Given the description of an element on the screen output the (x, y) to click on. 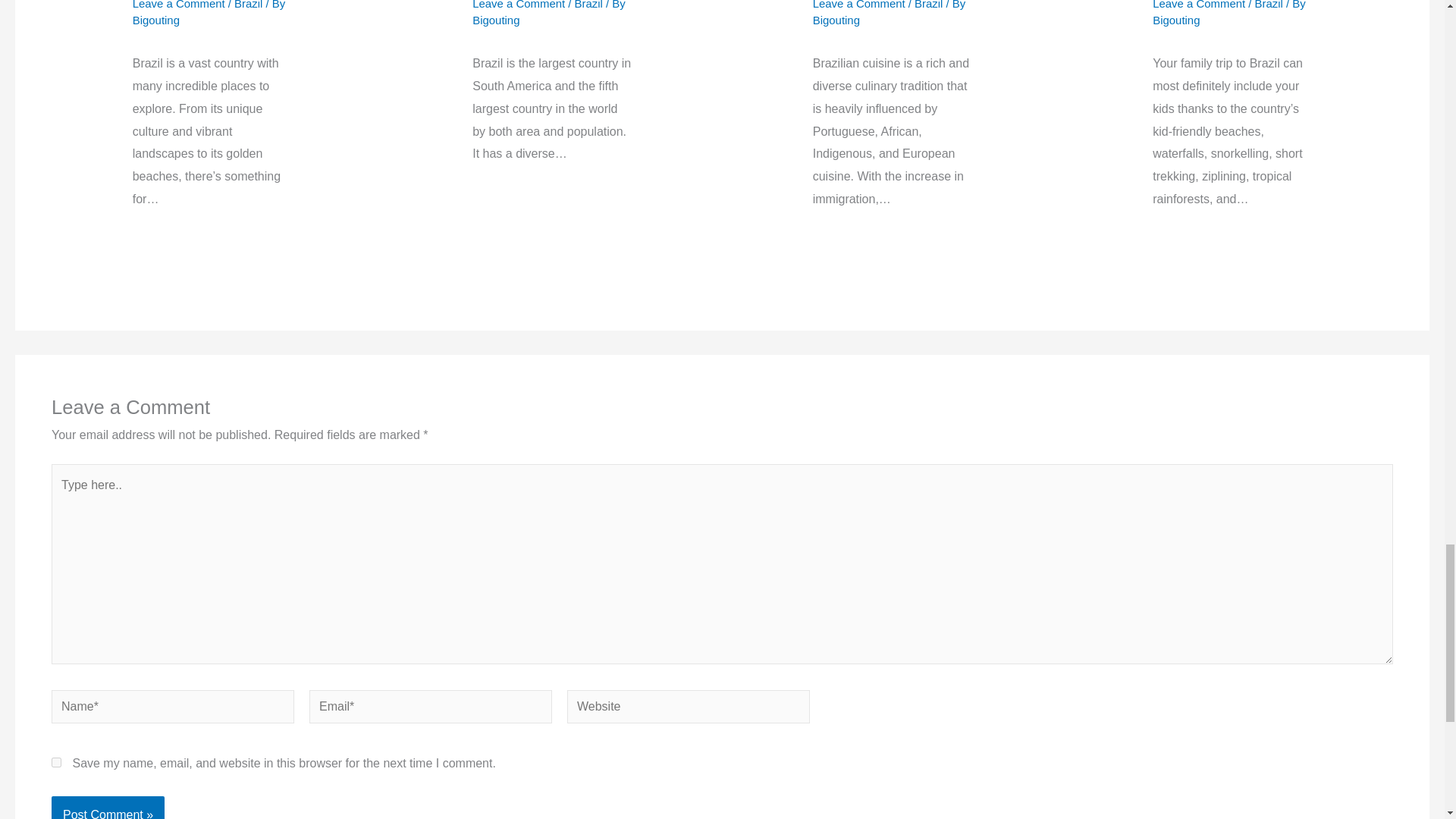
yes (55, 762)
View all posts by Bigouting (155, 19)
View all posts by Bigouting (495, 19)
View all posts by Bigouting (1176, 19)
View all posts by Bigouting (836, 19)
